Given the description of an element on the screen output the (x, y) to click on. 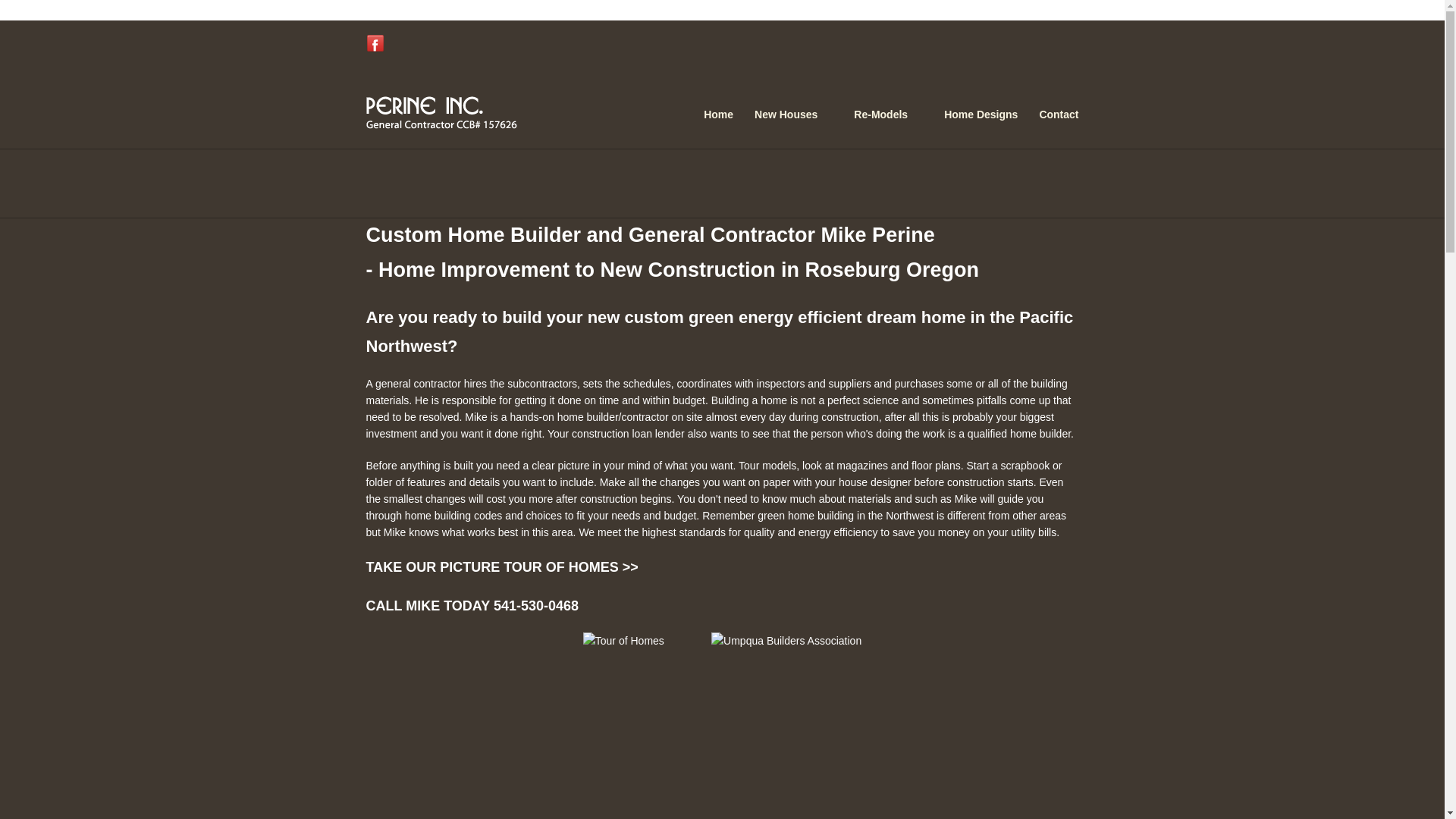
Contact (1058, 115)
Re-Models (888, 115)
Home Designs (980, 115)
New Houses (793, 115)
541-530-0468 (535, 605)
Home (718, 115)
